Given the description of an element on the screen output the (x, y) to click on. 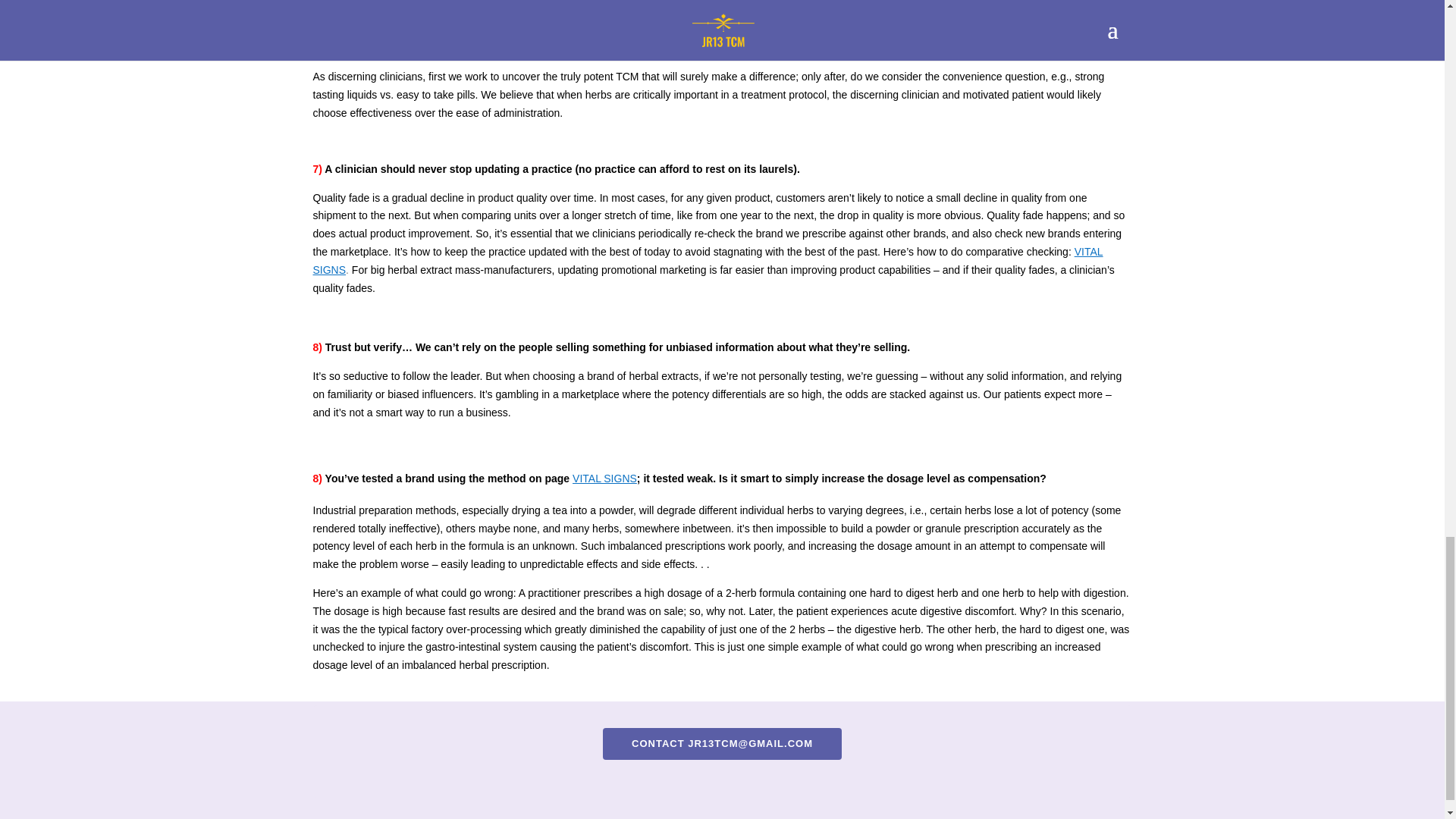
VITAL SIGNS (604, 478)
VITAL SIGNS (604, 478)
VITAL SIGNS (707, 260)
